Given the description of an element on the screen output the (x, y) to click on. 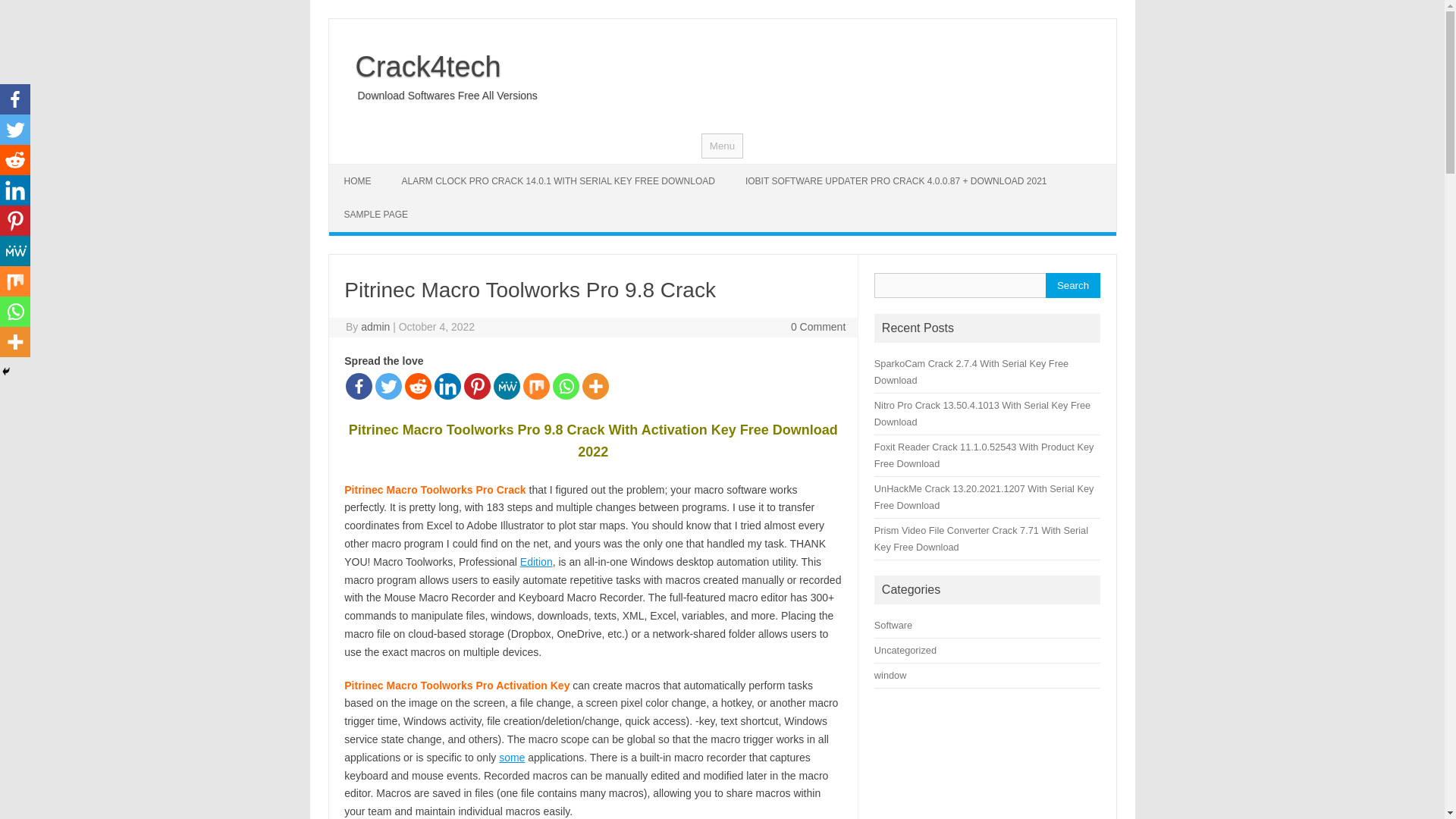
Crack4tech (421, 66)
Crack4tech (421, 66)
HOME (358, 181)
Search (1072, 285)
Mix (536, 386)
MeWe (506, 386)
Whatsapp (566, 386)
ALARM CLOCK PRO CRACK 14.0.1 WITH SERIAL KEY FREE DOWNLOAD (558, 181)
Facebook (359, 386)
